Given the description of an element on the screen output the (x, y) to click on. 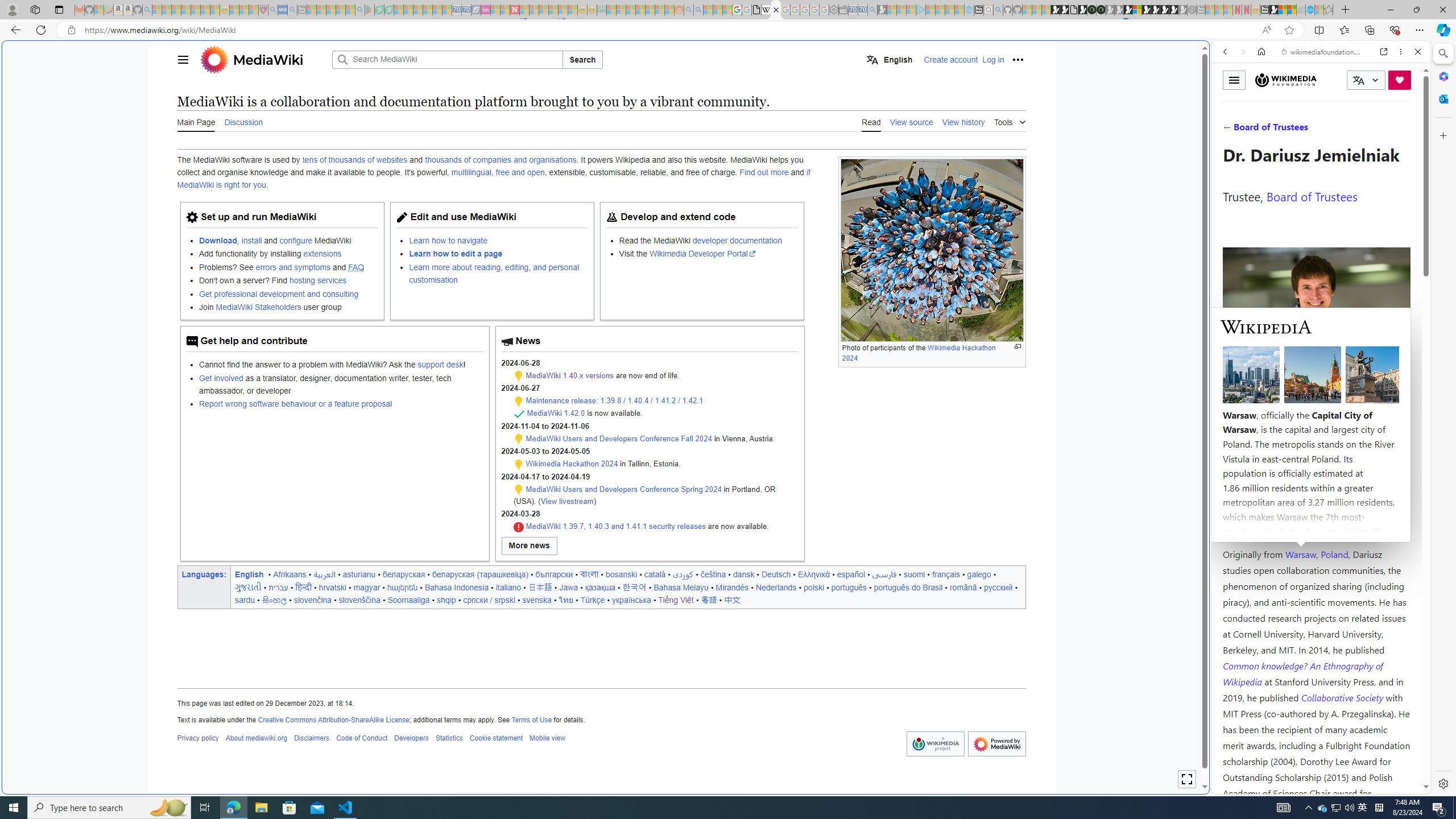
Profile on Meta-Wiki (1273, 405)
if MediaWiki is right for you (493, 178)
Learn how to navigate (498, 239)
SEARCH TOOLS (1350, 130)
Search Filter, Search Tools (1350, 129)
Future Focus Report 2024 (1100, 9)
Open link in new tab (1383, 51)
Download (217, 239)
Statistics (449, 738)
google - Search - Sleeping (359, 9)
